Given the description of an element on the screen output the (x, y) to click on. 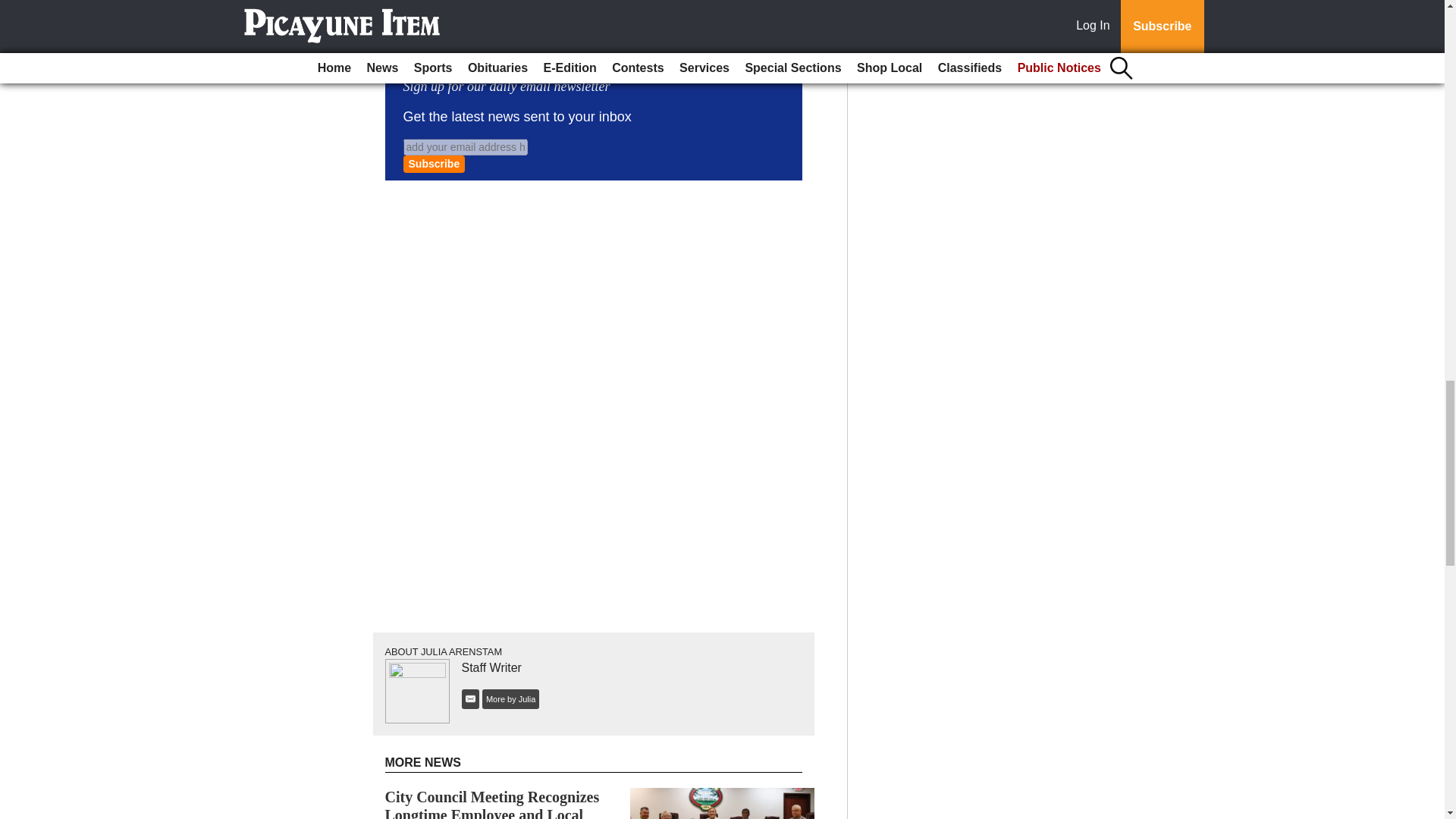
Subscribe (434, 163)
More by Julia (509, 699)
Subscribe (434, 163)
